Given the description of an element on the screen output the (x, y) to click on. 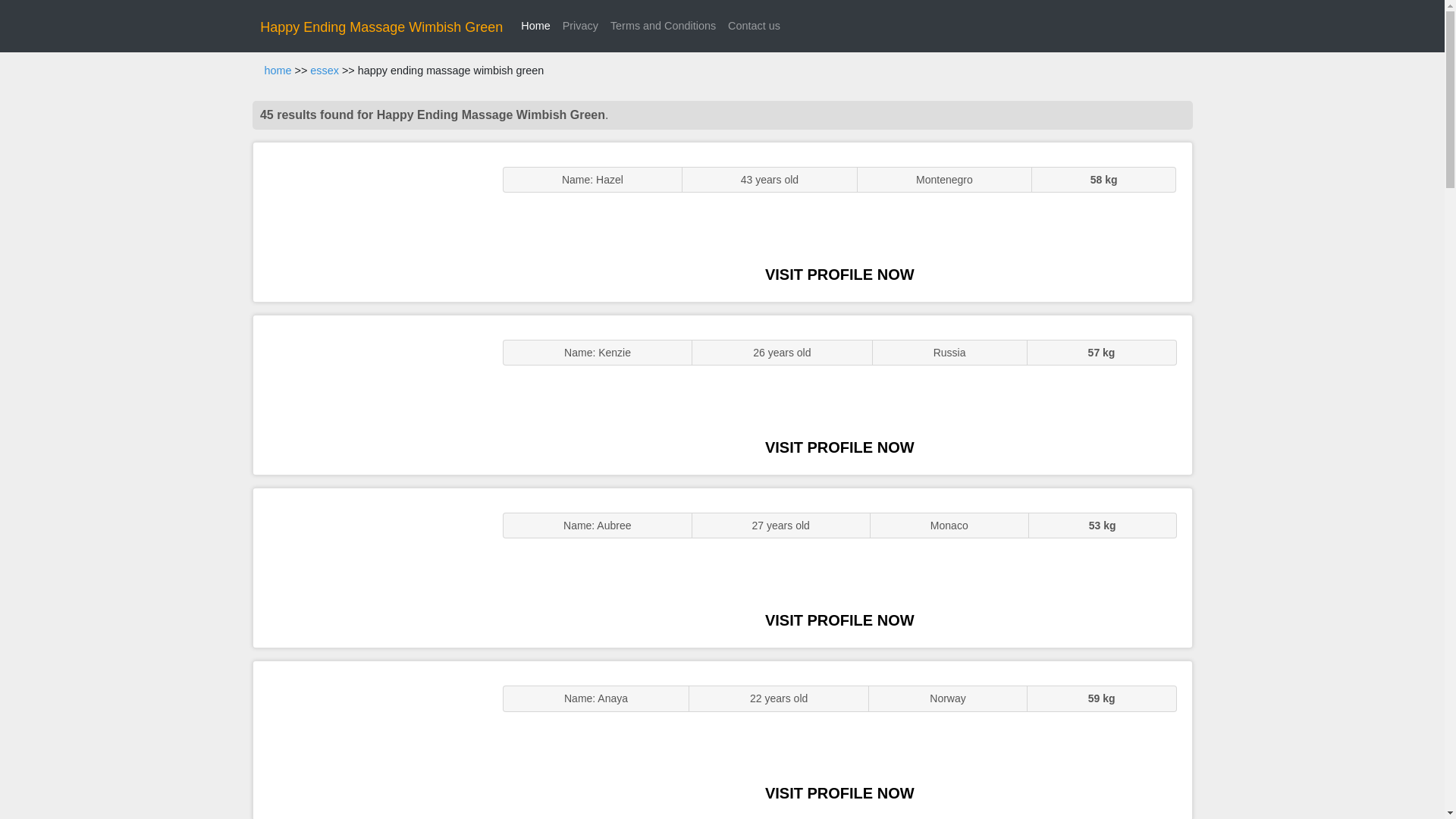
 ENGLISH STUNNER (370, 222)
Sexy (370, 567)
essex (324, 70)
Sluts (370, 739)
Privacy (580, 25)
home (277, 70)
Happy Ending Massage Wimbish Green (381, 27)
GFE (370, 395)
Contact us (754, 25)
VISIT PROFILE NOW (839, 619)
VISIT PROFILE NOW (839, 274)
VISIT PROFILE NOW (839, 446)
VISIT PROFILE NOW (839, 792)
Terms and Conditions (663, 25)
